Given the description of an element on the screen output the (x, y) to click on. 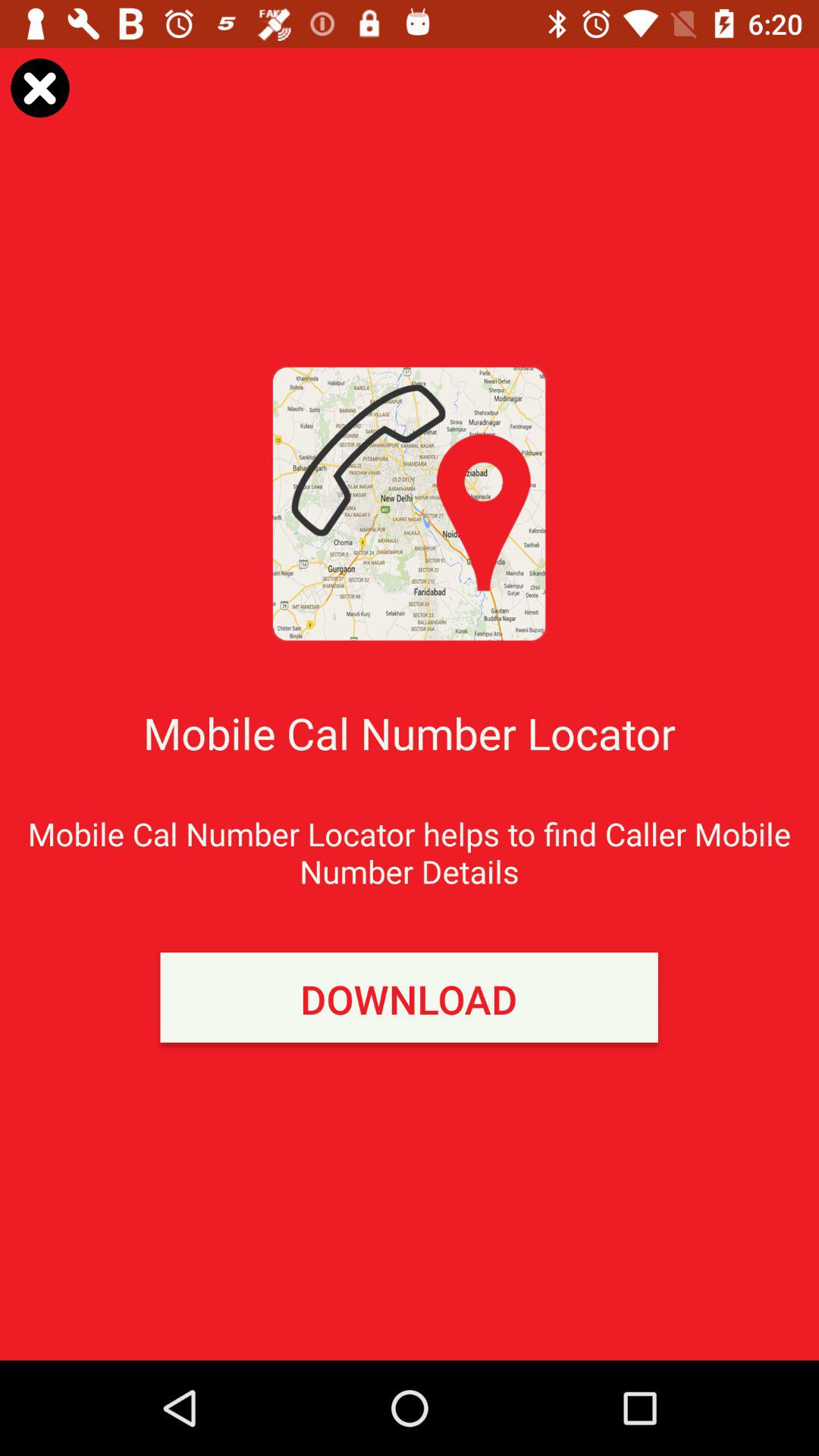
press the download item (409, 997)
